Given the description of an element on the screen output the (x, y) to click on. 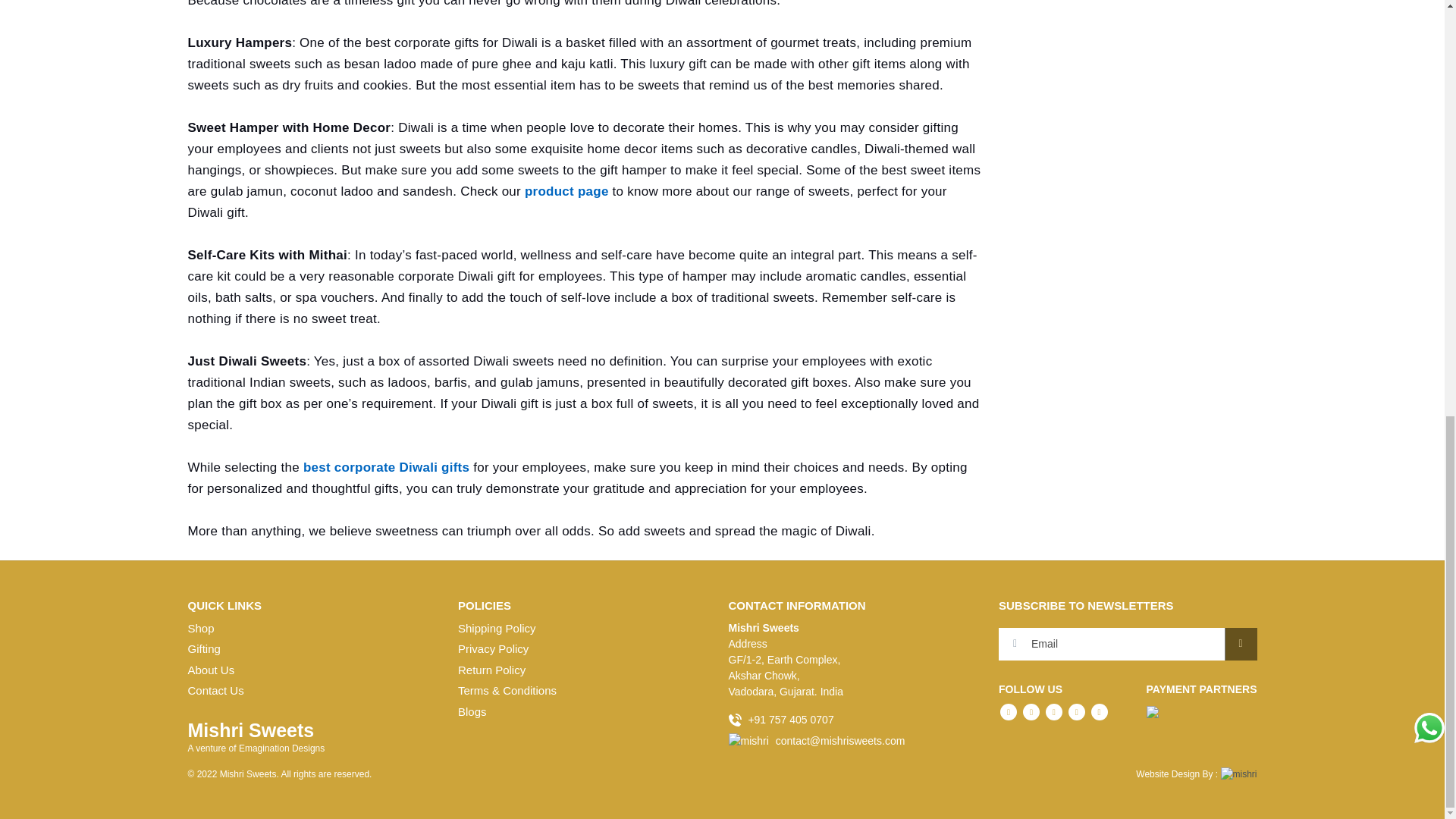
About Us (210, 669)
product page (566, 191)
Submit (1240, 644)
Contact Us (215, 689)
Gifting (204, 648)
best corporate Diwali gifts (387, 467)
Shop (200, 627)
